Given the description of an element on the screen output the (x, y) to click on. 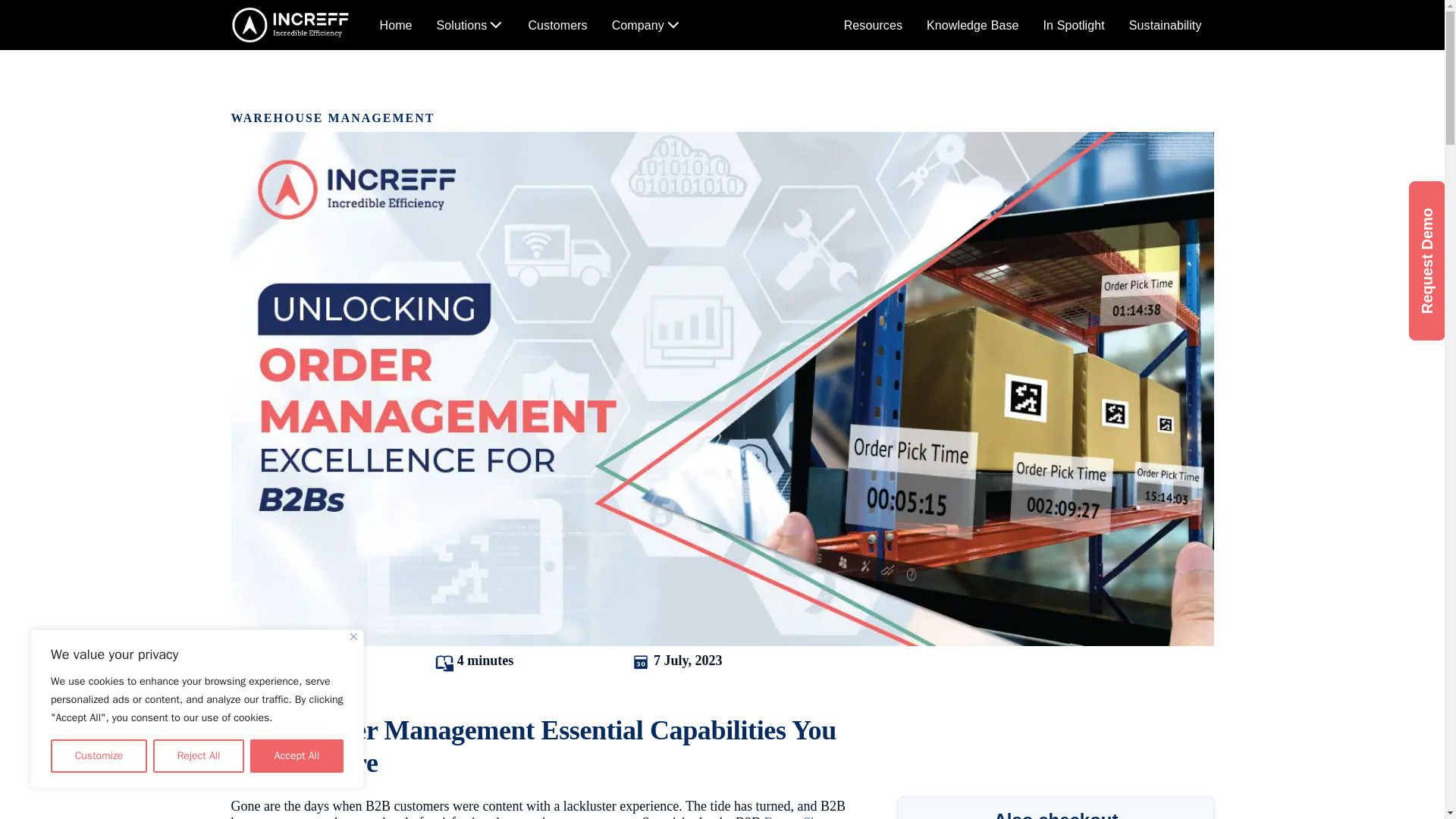
Customers (556, 25)
Company (646, 25)
Customize (98, 756)
Home (394, 19)
Resources (872, 25)
Accept All (296, 756)
Solutions (529, 25)
Reject All (470, 21)
